Given the description of an element on the screen output the (x, y) to click on. 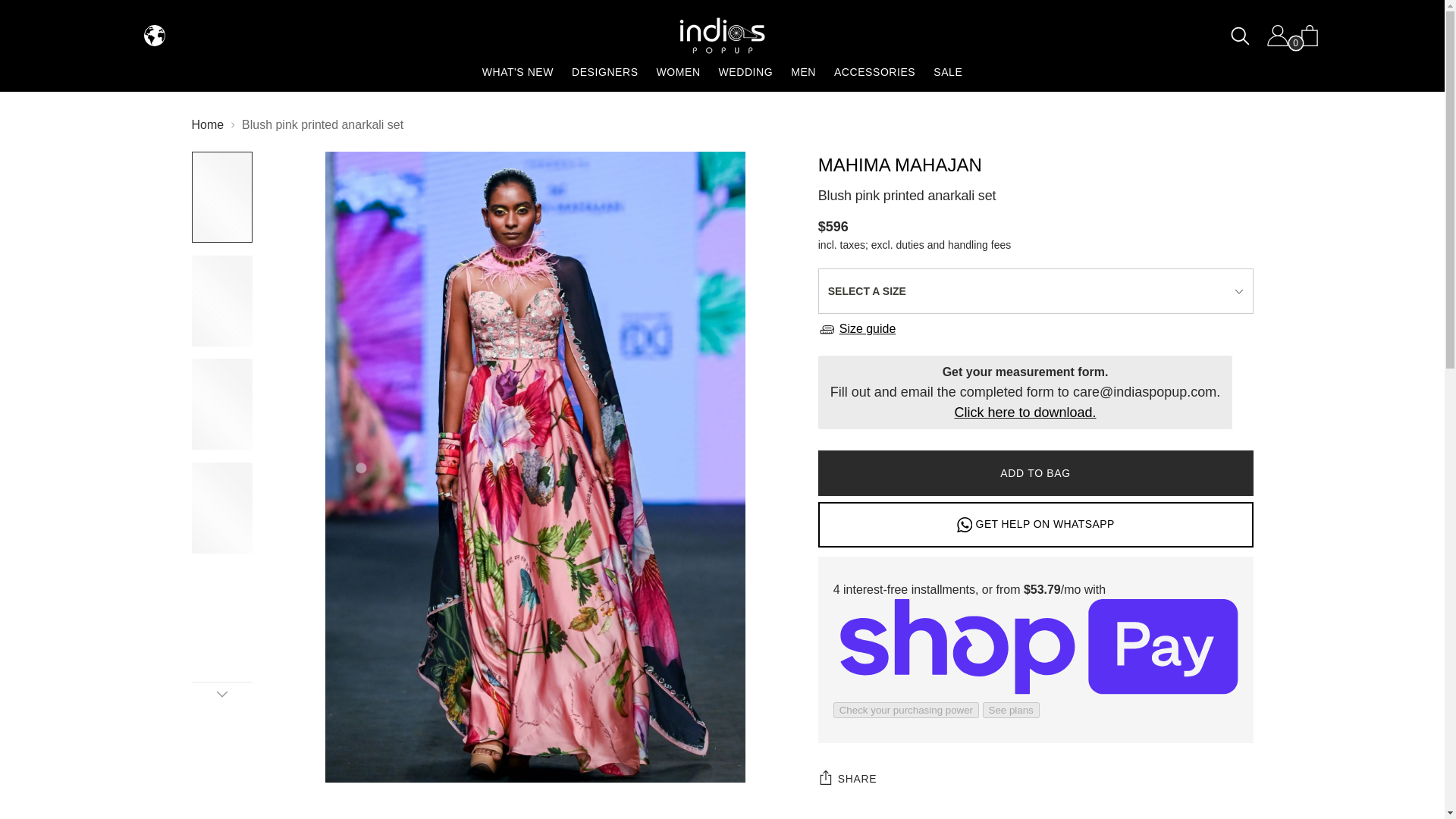
DESIGNERS (605, 71)
WHAT'S NEW (517, 71)
Mahima Mahajan (899, 164)
Down (220, 693)
0 (1302, 34)
